Given the description of an element on the screen output the (x, y) to click on. 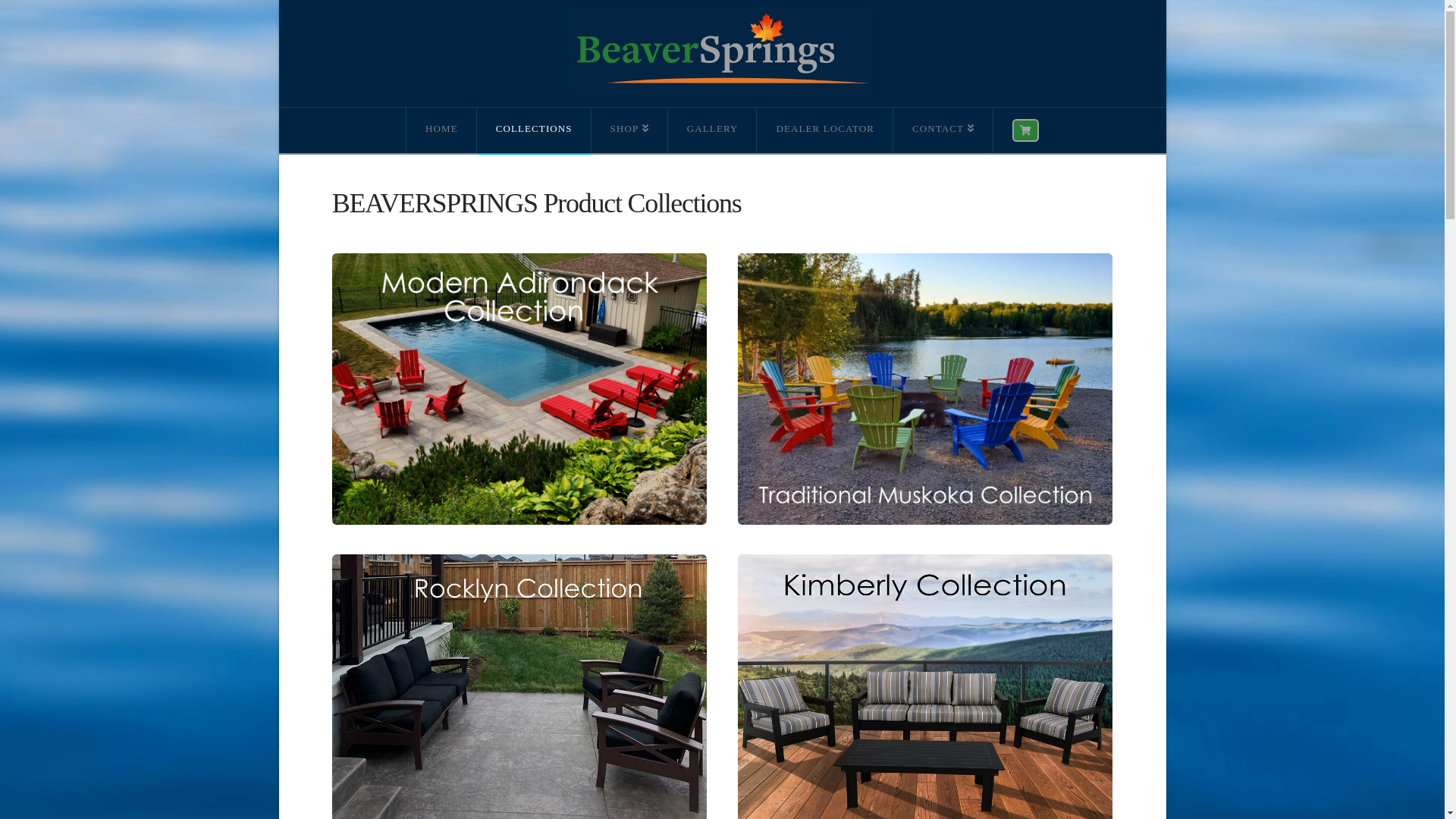
CONTACT Element type: text (943, 130)
HOME Element type: text (440, 130)
DEALER LOCATOR Element type: text (824, 130)
COLLECTIONS Element type: text (533, 130)
GALLERY Element type: text (712, 130)
SHOP Element type: text (629, 130)
